Given the description of an element on the screen output the (x, y) to click on. 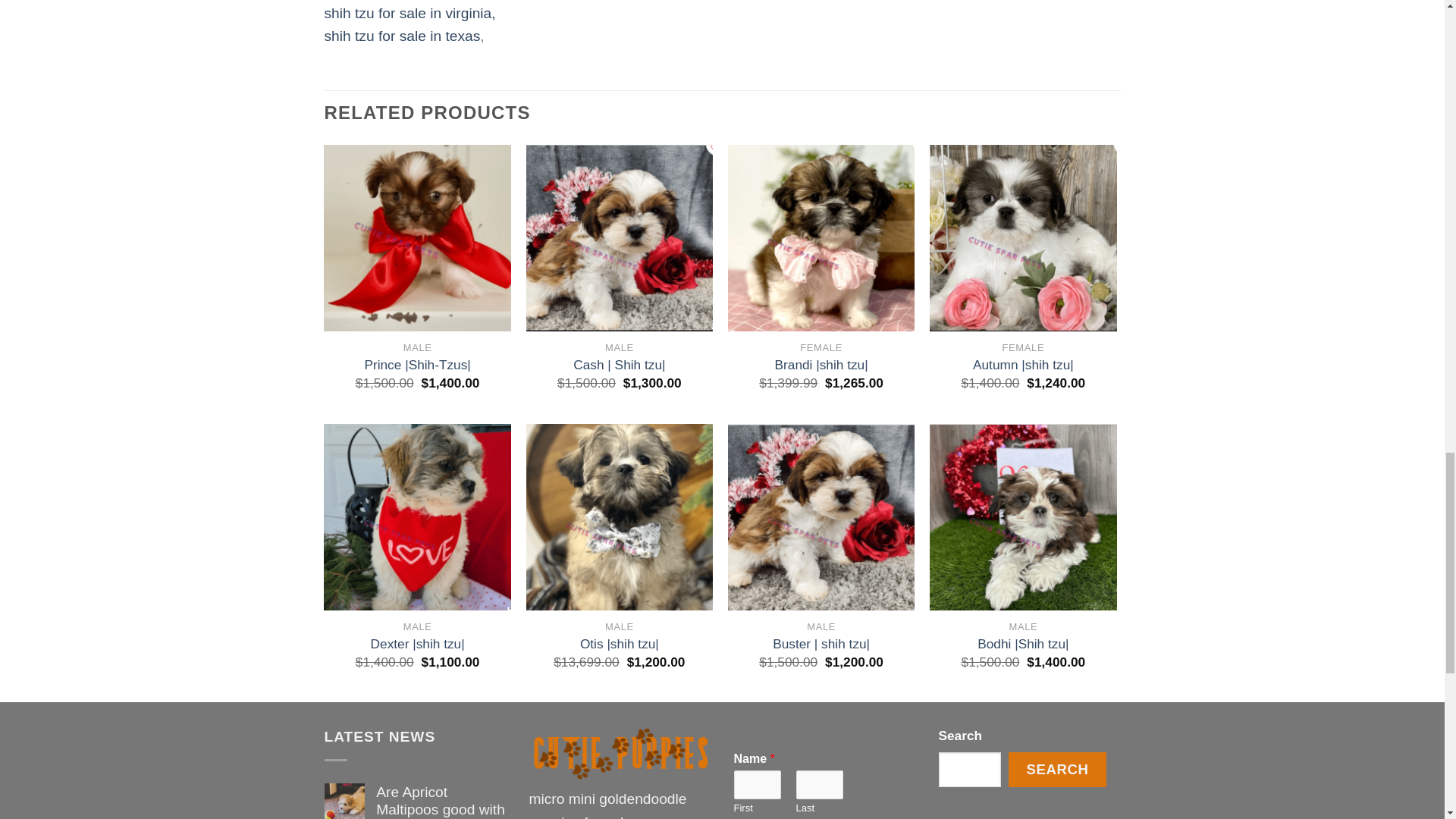
Are Apricot Maltipoos good with children and other pets? (440, 800)
